Given the description of an element on the screen output the (x, y) to click on. 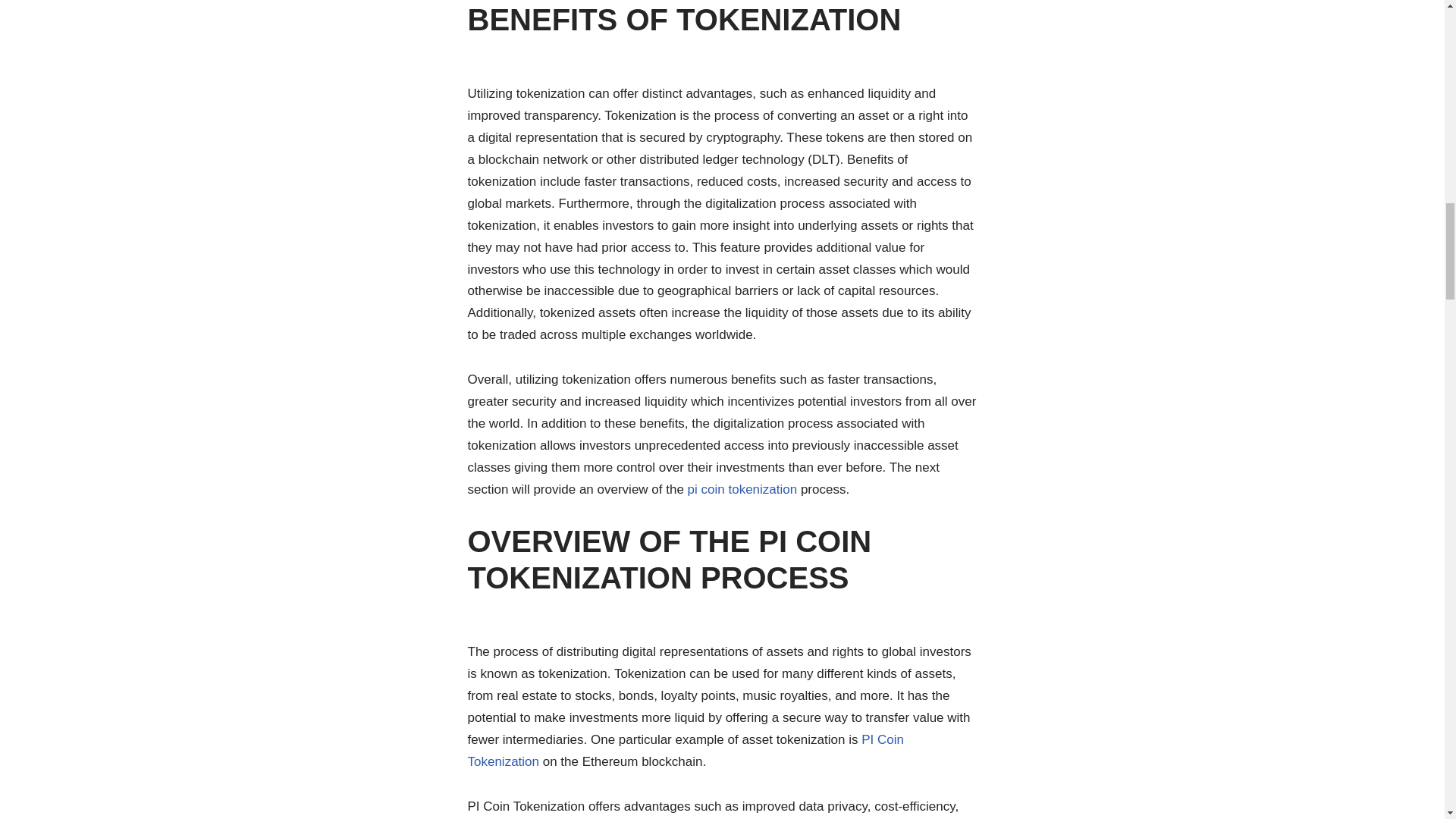
PI Coin Tokenization (684, 750)
pi coin tokenization (742, 489)
PI Coin Tokenization (684, 750)
pi coin tokenization (742, 489)
